Given the description of an element on the screen output the (x, y) to click on. 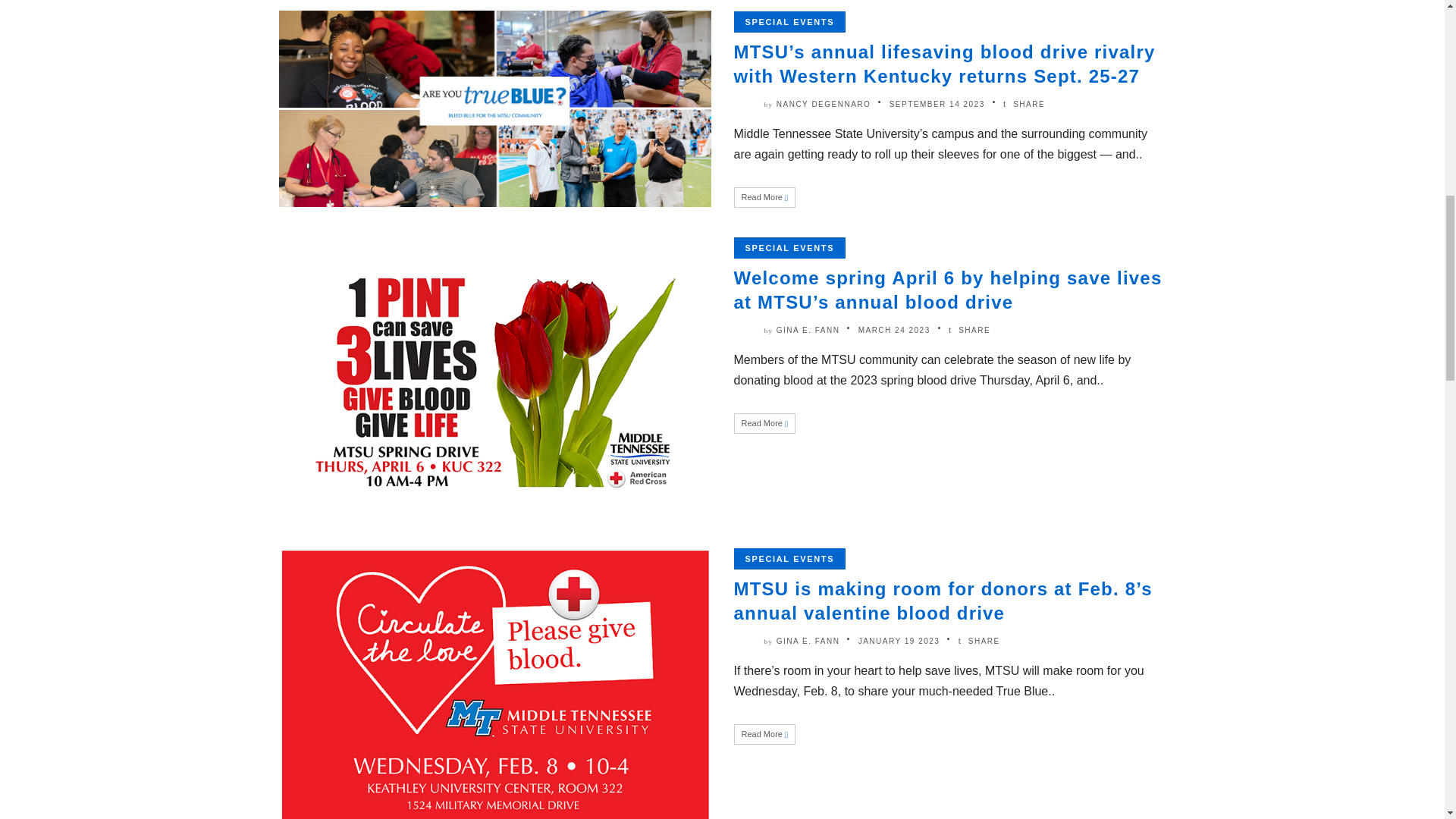
Posts by Gina E. Fann (808, 329)
January 19, 2023 9:30 (899, 641)
March 24, 2023 11:50 (894, 329)
Posts by Nancy DeGennaro (823, 103)
Posts by Gina E. Fann (808, 641)
September 14, 2023 2:57 (937, 103)
